Given the description of an element on the screen output the (x, y) to click on. 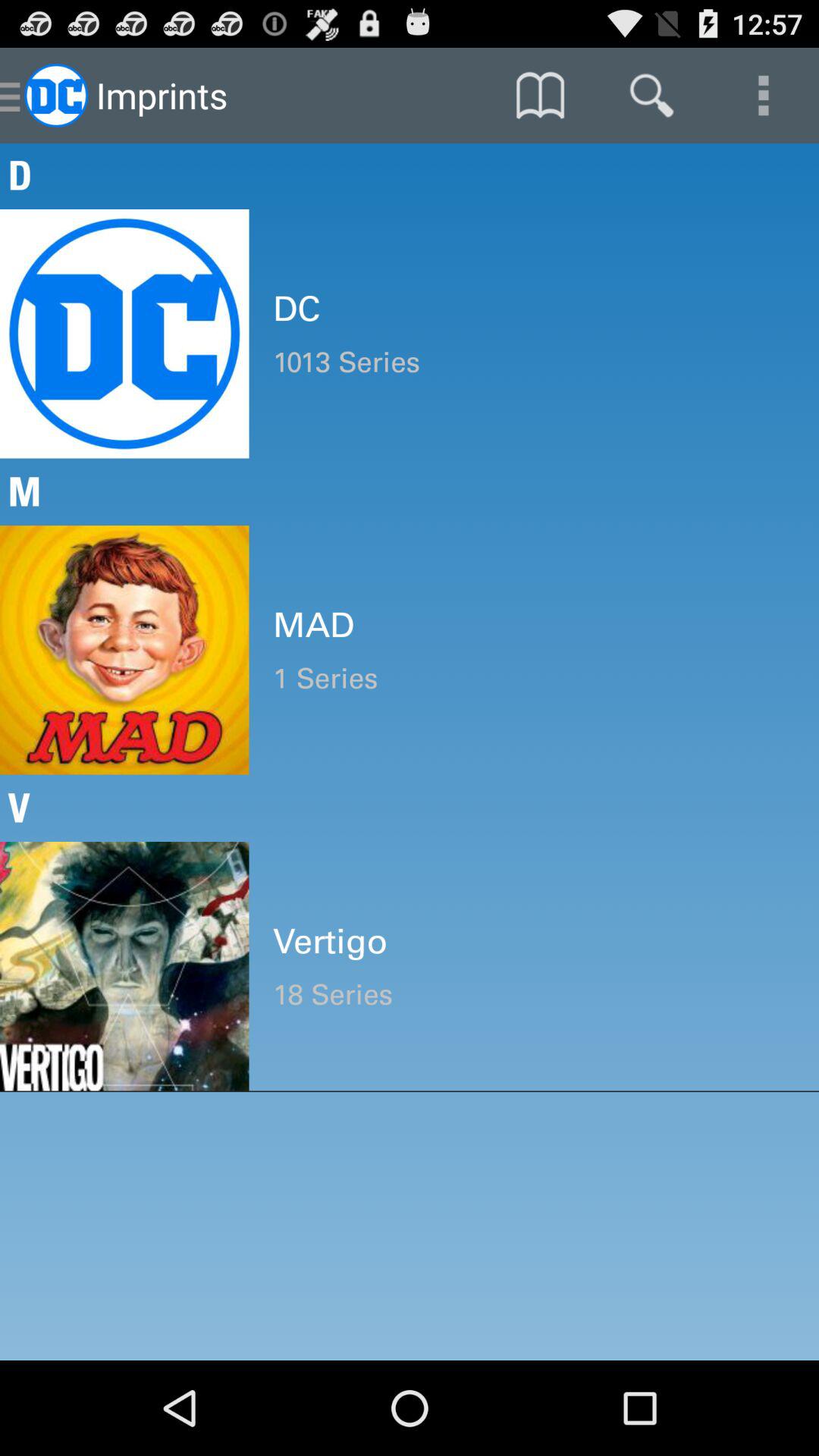
launch the v icon (409, 807)
